Given the description of an element on the screen output the (x, y) to click on. 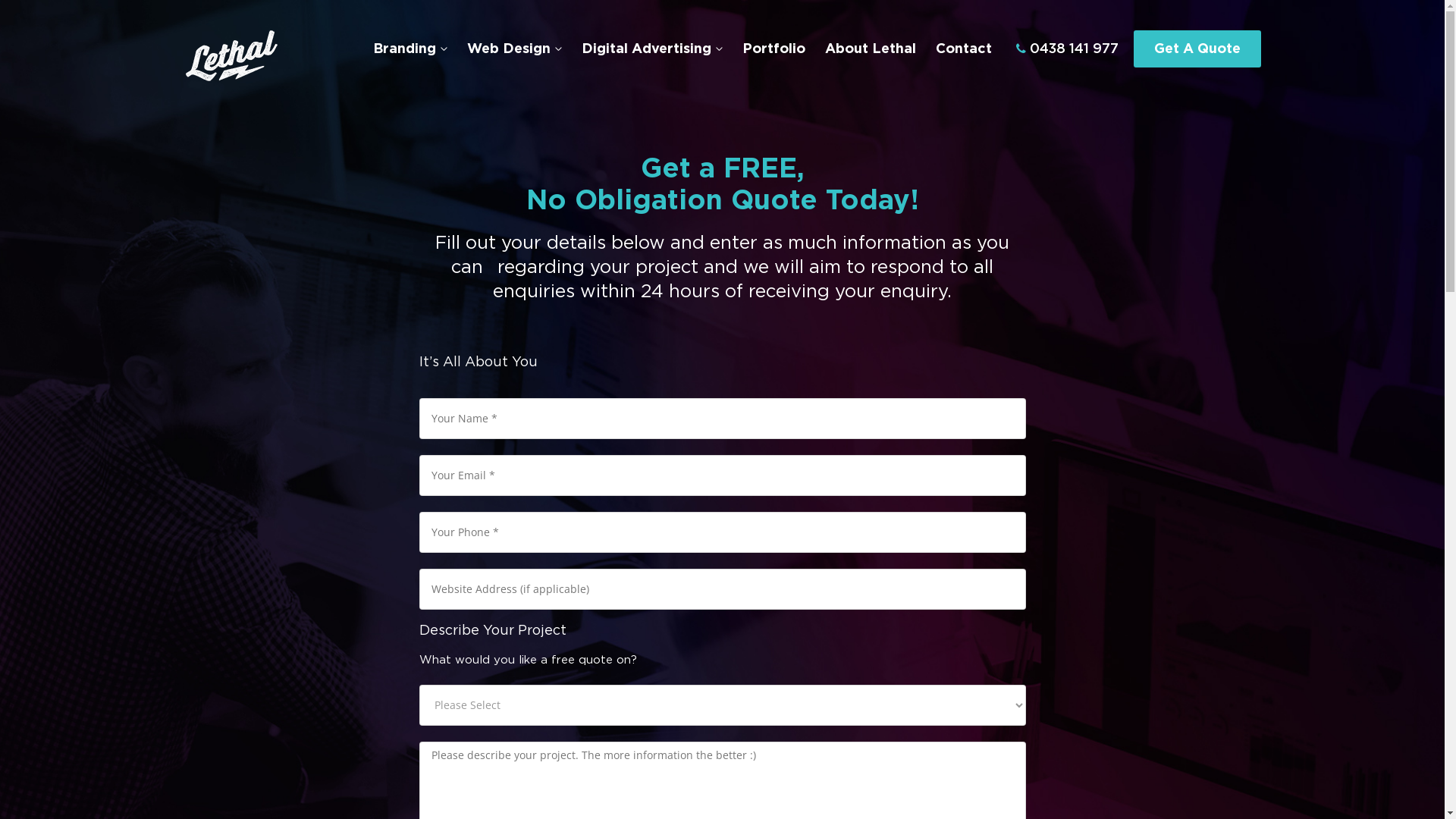
Branding Element type: text (410, 49)
About Lethal Element type: text (870, 49)
Digital Advertising Element type: text (651, 49)
0438 141 977 Element type: text (1067, 48)
Get A Quote Element type: text (1196, 48)
Web Design Element type: text (514, 49)
Portfolio Element type: text (772, 49)
Contact Element type: text (963, 49)
